Given the description of an element on the screen output the (x, y) to click on. 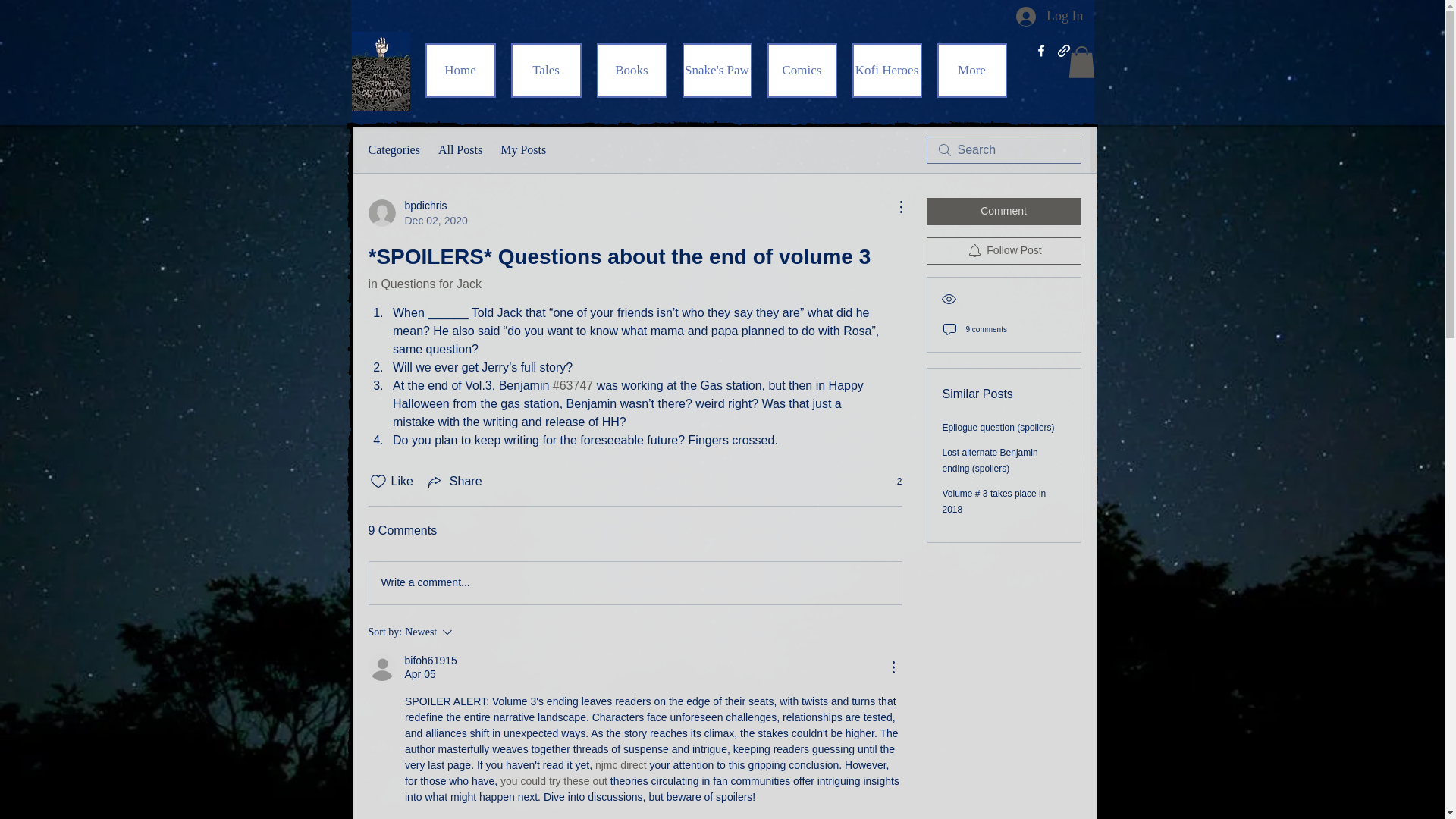
njmc direct (620, 765)
in Questions for Jack (424, 283)
Snake's Paw (717, 70)
Log In (1050, 16)
Categories (394, 149)
Write a comment... (474, 632)
Share (634, 582)
Kofi Heroes (417, 213)
All Posts (453, 481)
Comics (886, 70)
bifoh61915 (459, 149)
Tales (802, 70)
2 (430, 660)
